Given the description of an element on the screen output the (x, y) to click on. 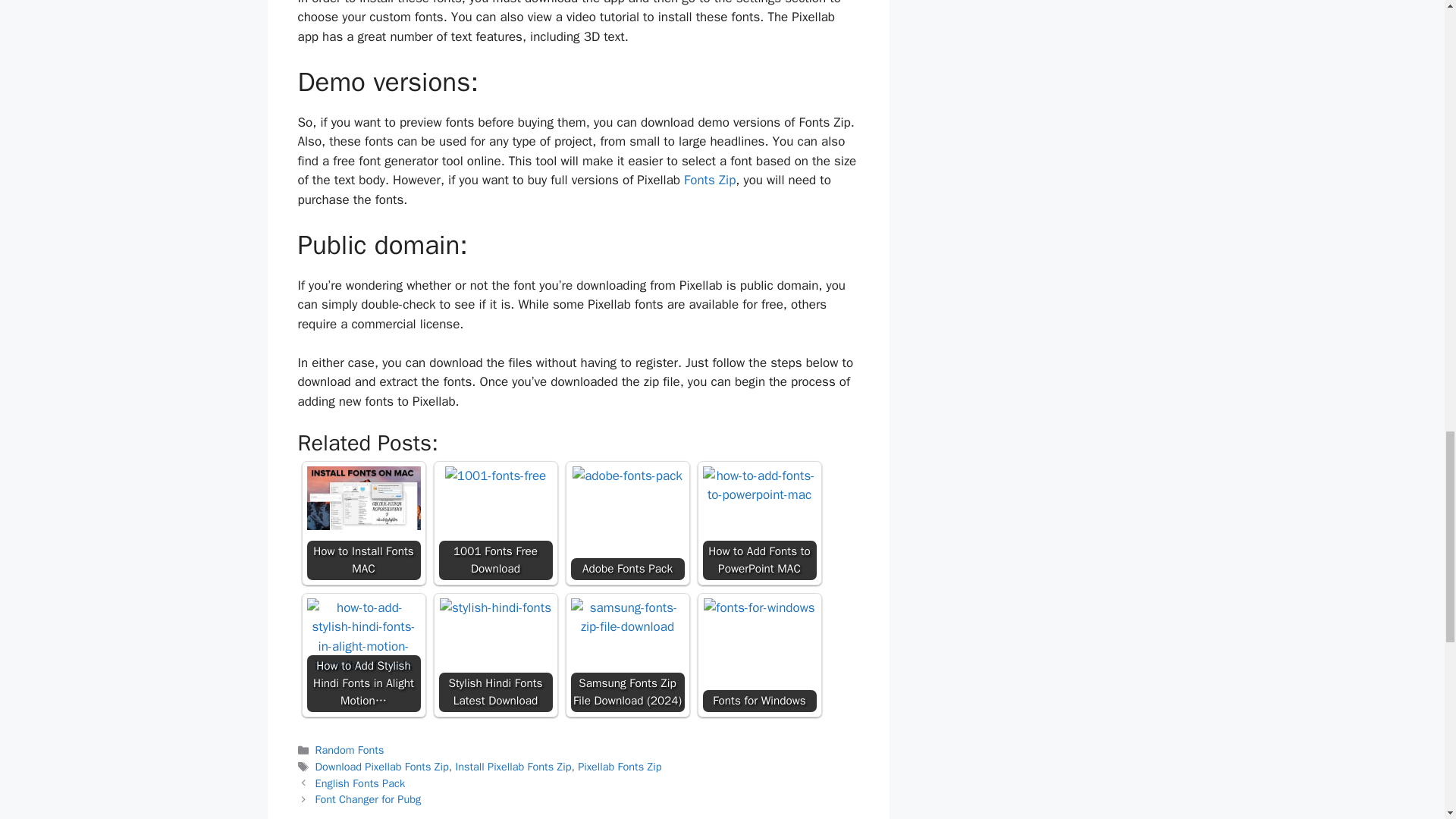
Fonts for Windows (758, 608)
Adobe Fonts Pack (627, 522)
Adobe Fonts Pack (627, 476)
English Fonts Pack (360, 783)
How to Install Fonts MAC (362, 522)
Install Pixellab Fonts Zip (512, 766)
Download Pixellab Fonts Zip (381, 766)
Fonts Zip (709, 179)
Pixellab Fonts Zip (619, 766)
